Given the description of an element on the screen output the (x, y) to click on. 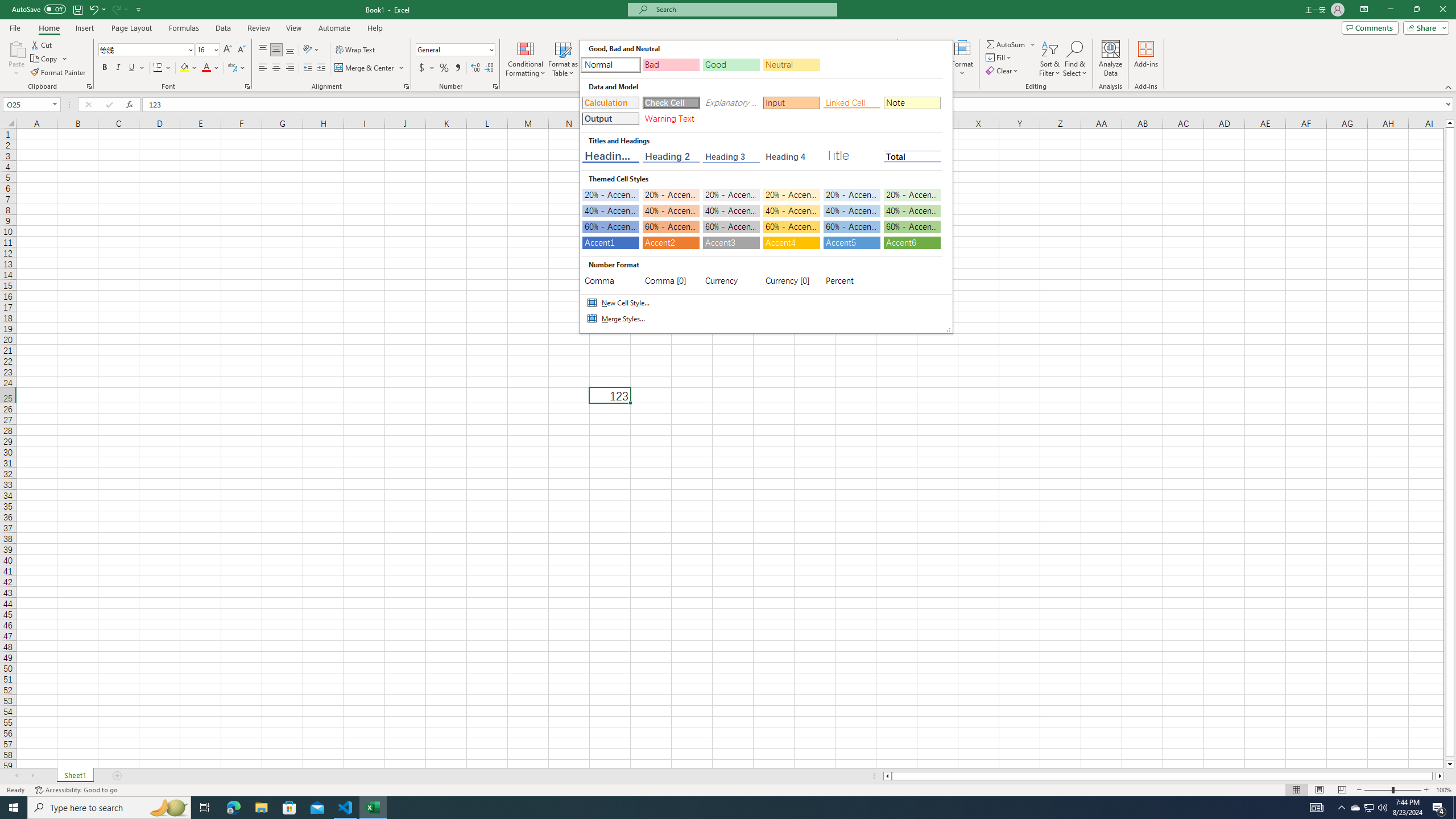
Microsoft Edge (233, 807)
Increase Indent (320, 67)
Sort & Filter (1049, 58)
Start (13, 807)
Font (142, 49)
Bold (104, 67)
Percent Style (443, 67)
Align Left (262, 67)
Find & Select (1075, 58)
